Given the description of an element on the screen output the (x, y) to click on. 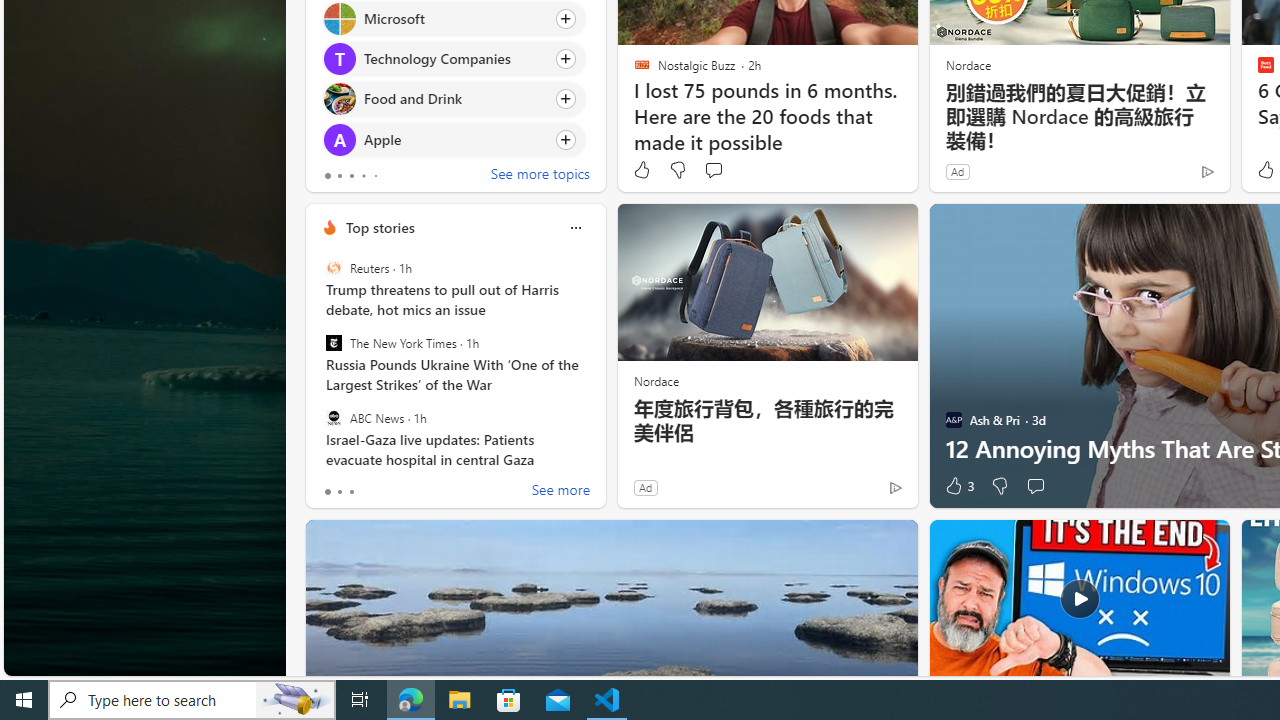
tab-2 (351, 491)
tab-4 (374, 175)
